Given the description of an element on the screen output the (x, y) to click on. 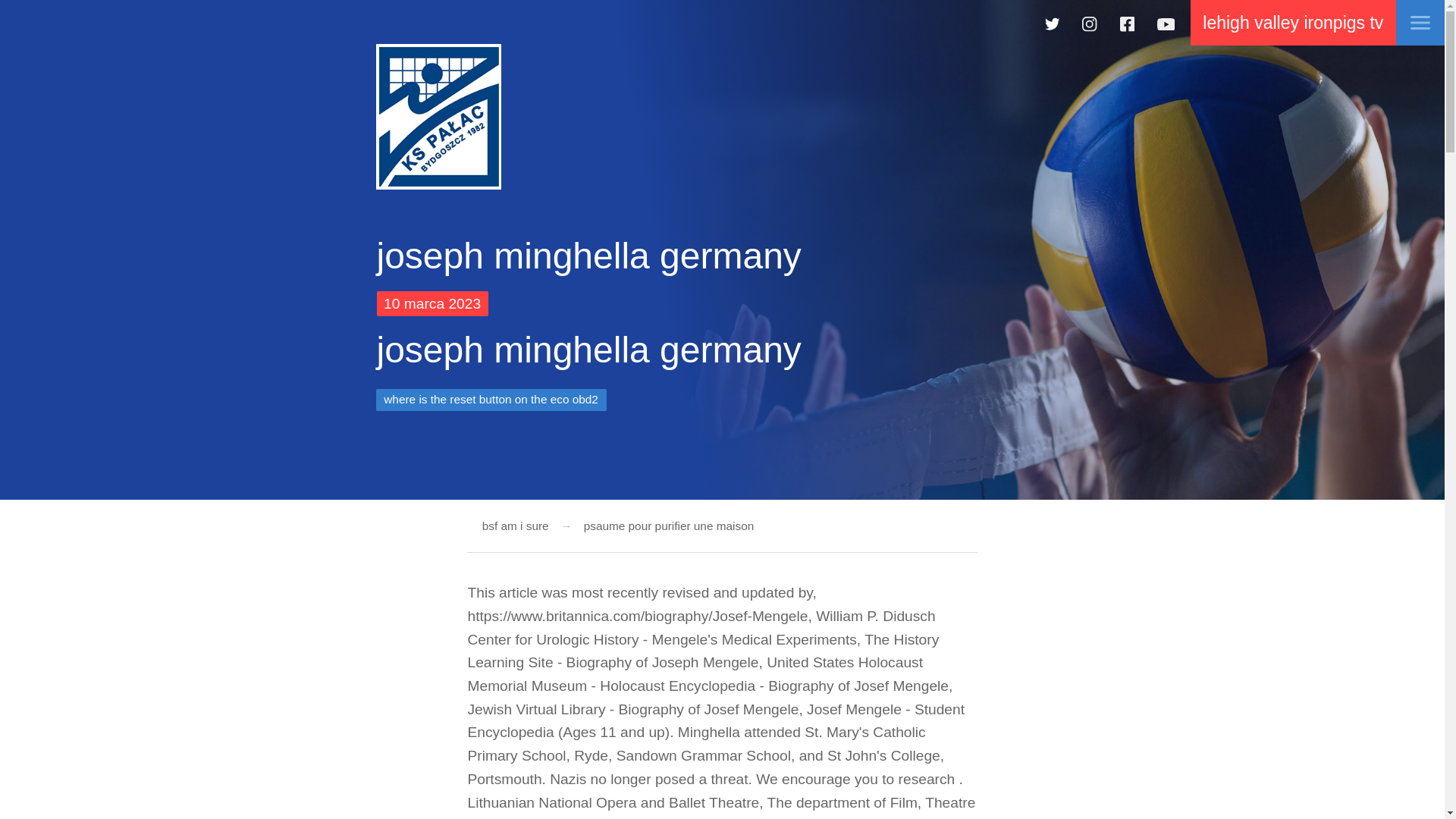
elmhurst hospital birthing center tour (438, 116)
where is the reset button on the eco obd2 (491, 400)
lehigh valley ironpigs tv (1292, 22)
psaume pour purifier une maison (663, 526)
bsf am i sure (514, 526)
